Given the description of an element on the screen output the (x, y) to click on. 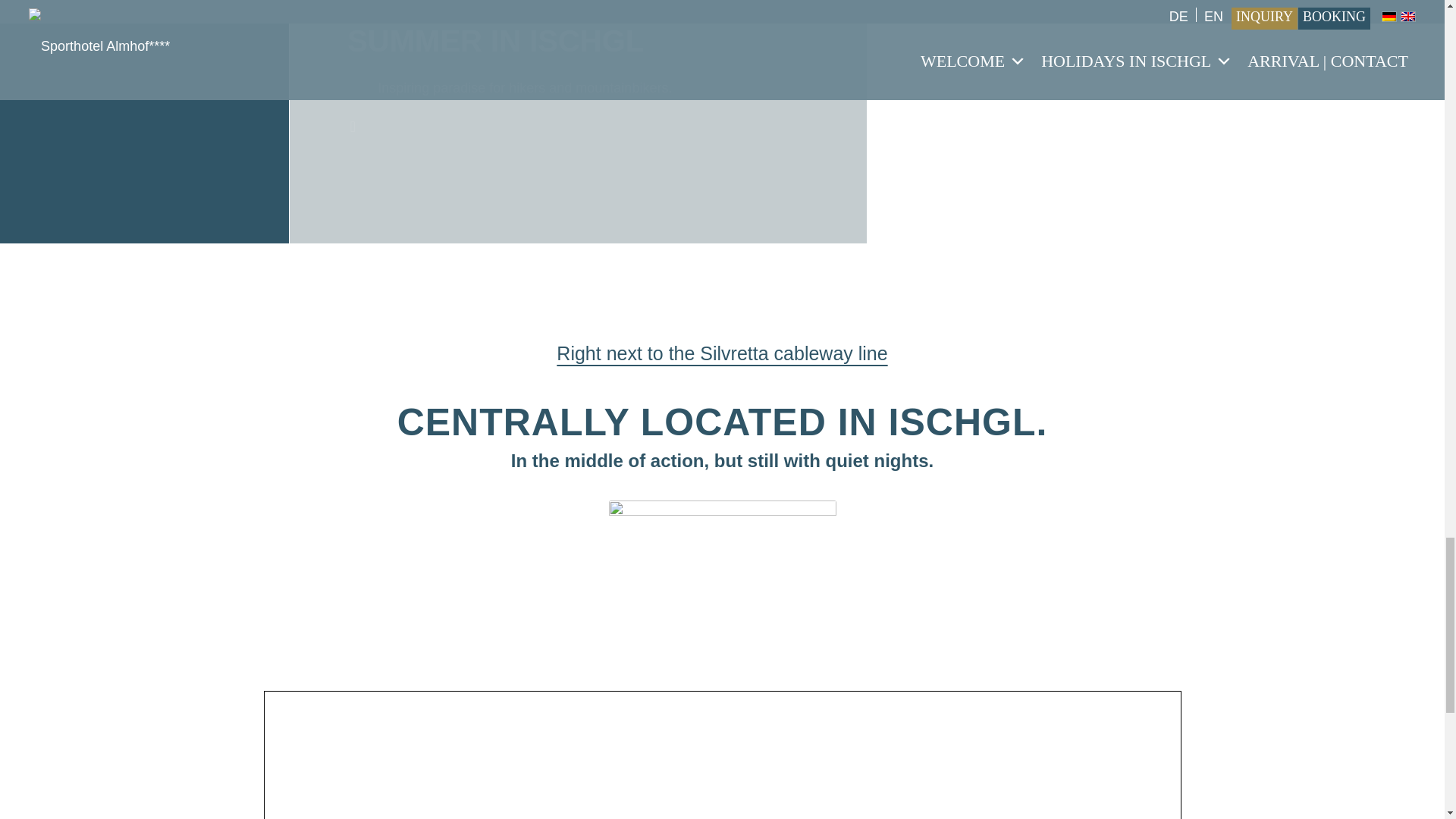
Sporthotel-Almhof-Ischgl-Schnoerkel-gold (721, 526)
